Given the description of an element on the screen output the (x, y) to click on. 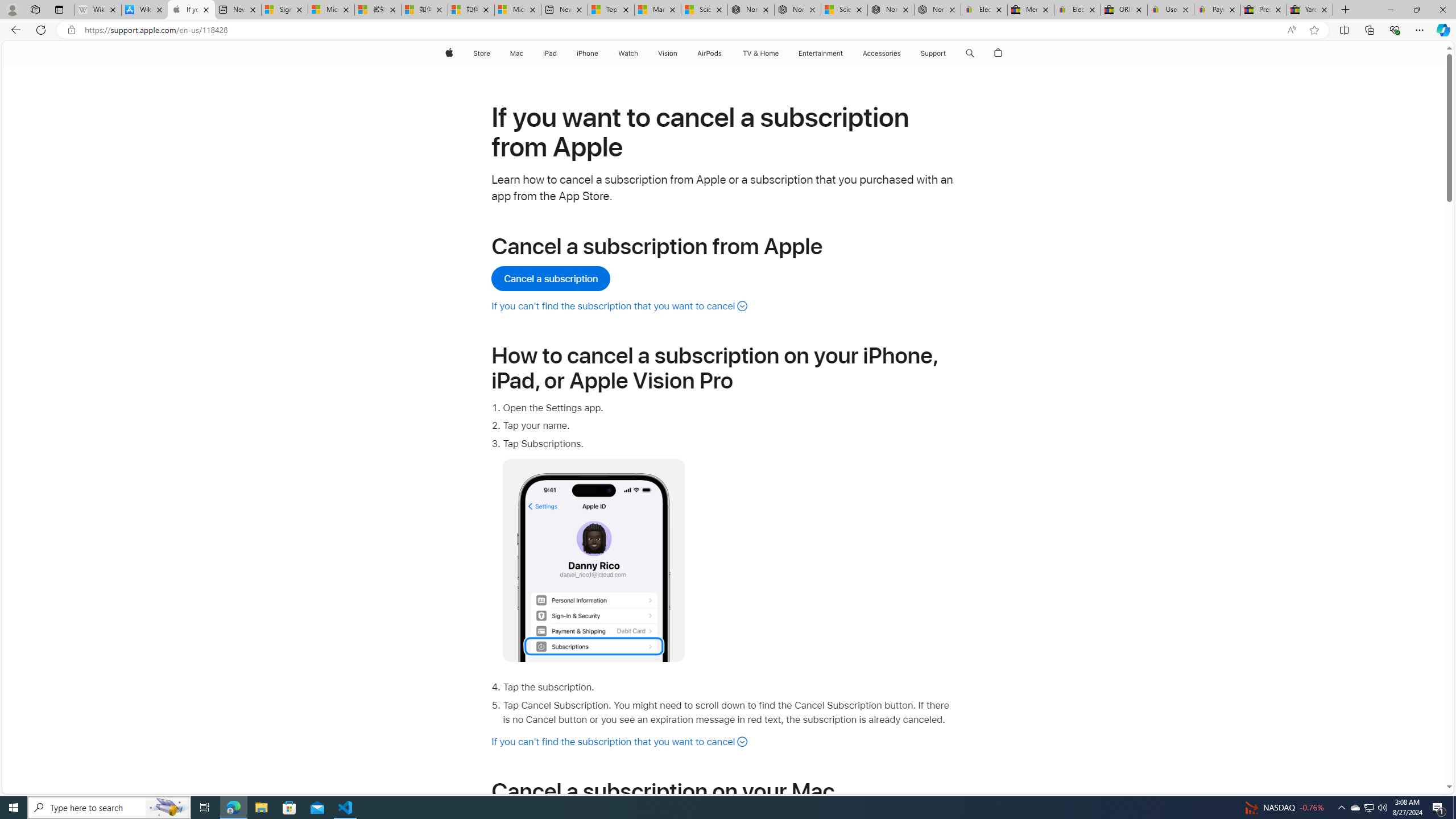
AirPods menu (723, 53)
User Privacy Notice | eBay (1170, 9)
Store menu (492, 53)
Vision menu (678, 53)
Vision (667, 53)
Apple (448, 53)
Press Room - eBay Inc. (1263, 9)
Tap your name. (729, 425)
TV and Home (759, 53)
Cancel a subscription (551, 278)
Mac (516, 53)
